Given the description of an element on the screen output the (x, y) to click on. 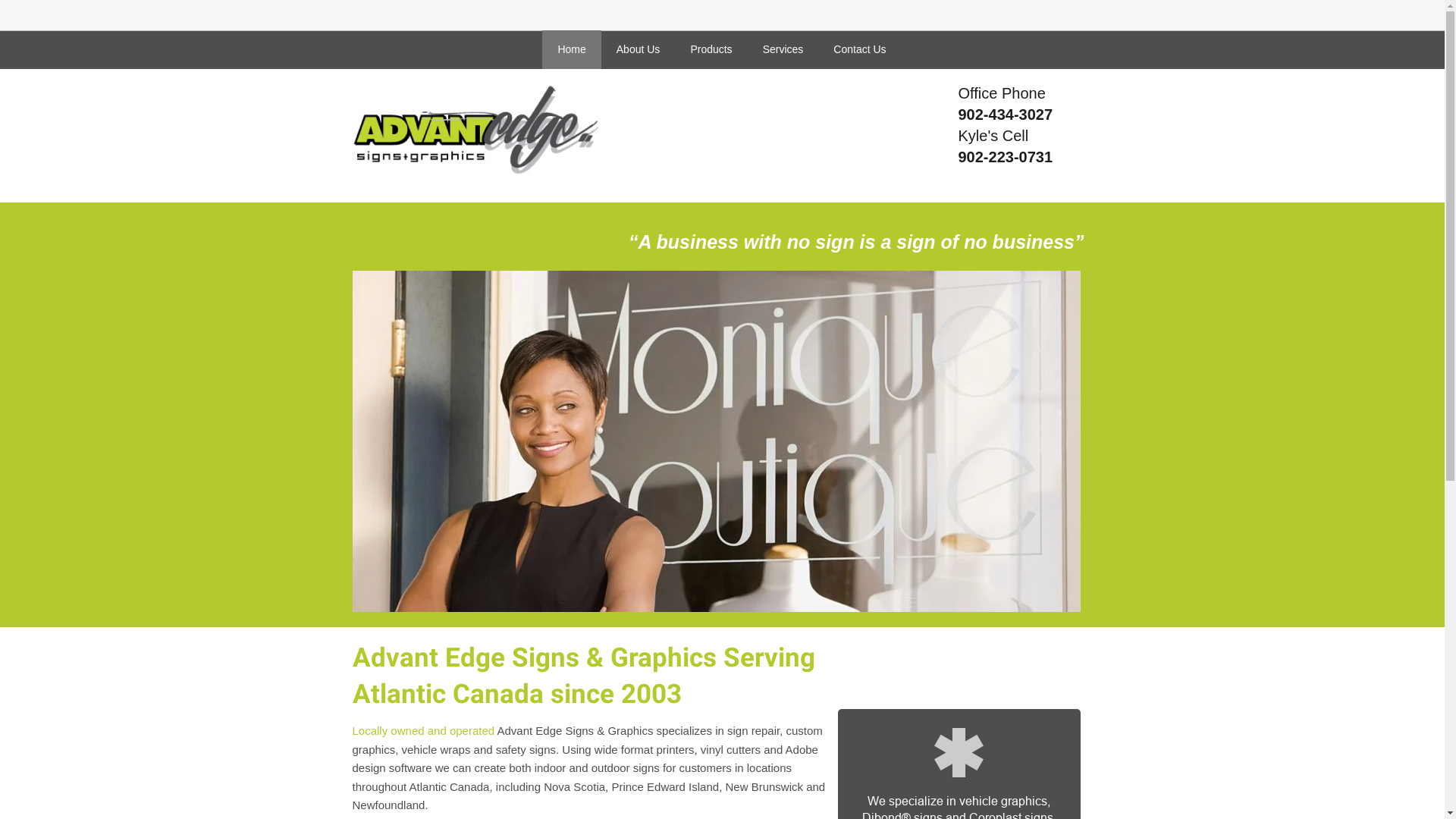
Contact Us Element type: text (859, 49)
902-223-0731 Element type: text (1005, 156)
Locally owned and operated Element type: text (422, 730)
Embedded Content Element type: hover (1057, 19)
Embedded Content Element type: hover (964, 12)
902-434-3027 Element type: text (1005, 114)
Services Element type: text (783, 49)
Home Element type: text (571, 49)
About Us Element type: text (638, 49)
Products Element type: text (710, 49)
